Given the description of an element on the screen output the (x, y) to click on. 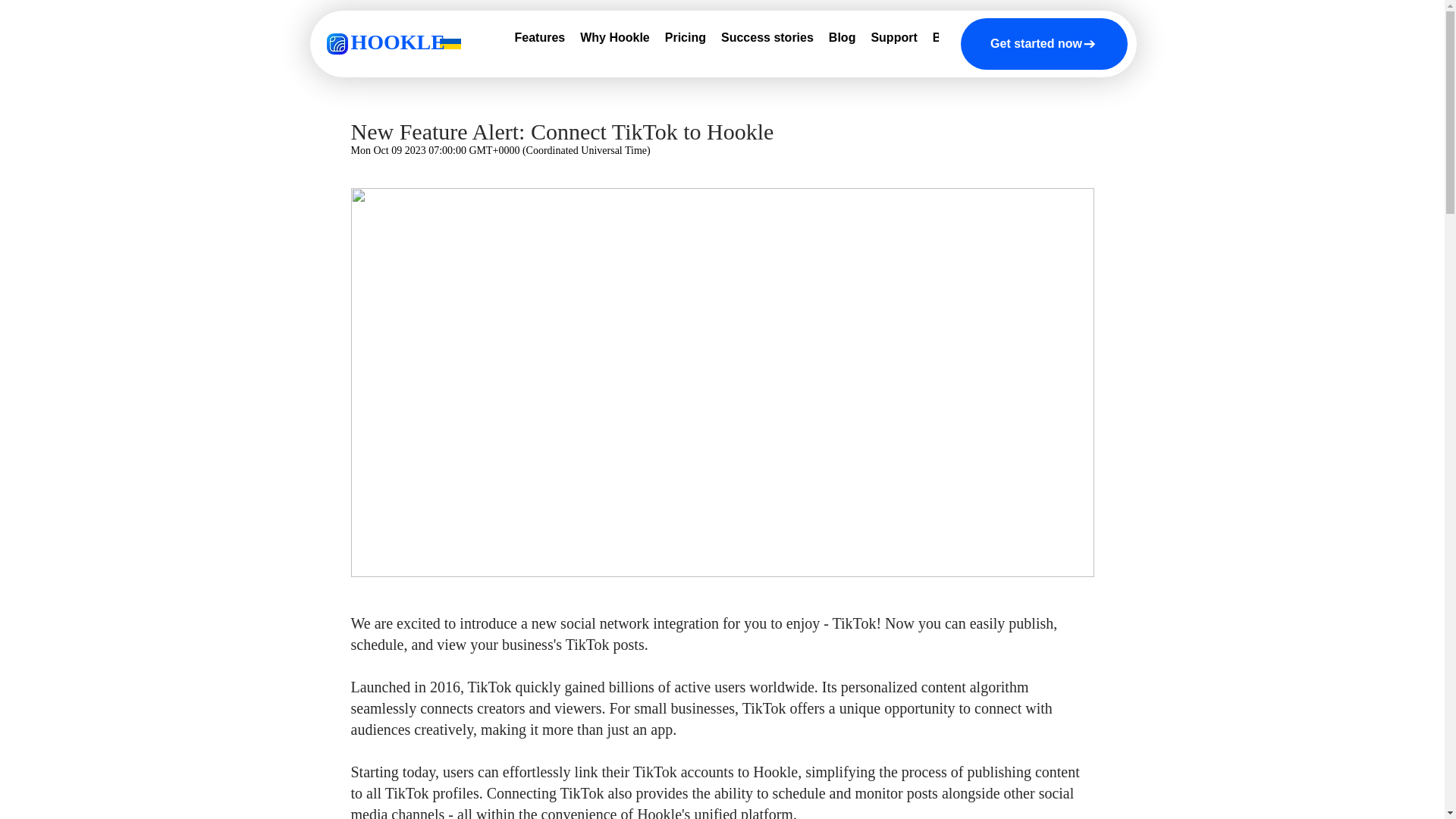
Blog (842, 41)
HOOKLE (397, 42)
Why Hookle (615, 41)
Support (893, 41)
Success stories (767, 41)
Features (539, 41)
Get started now (1042, 43)
Pricing (685, 41)
Book a demo (970, 41)
